Given the description of an element on the screen output the (x, y) to click on. 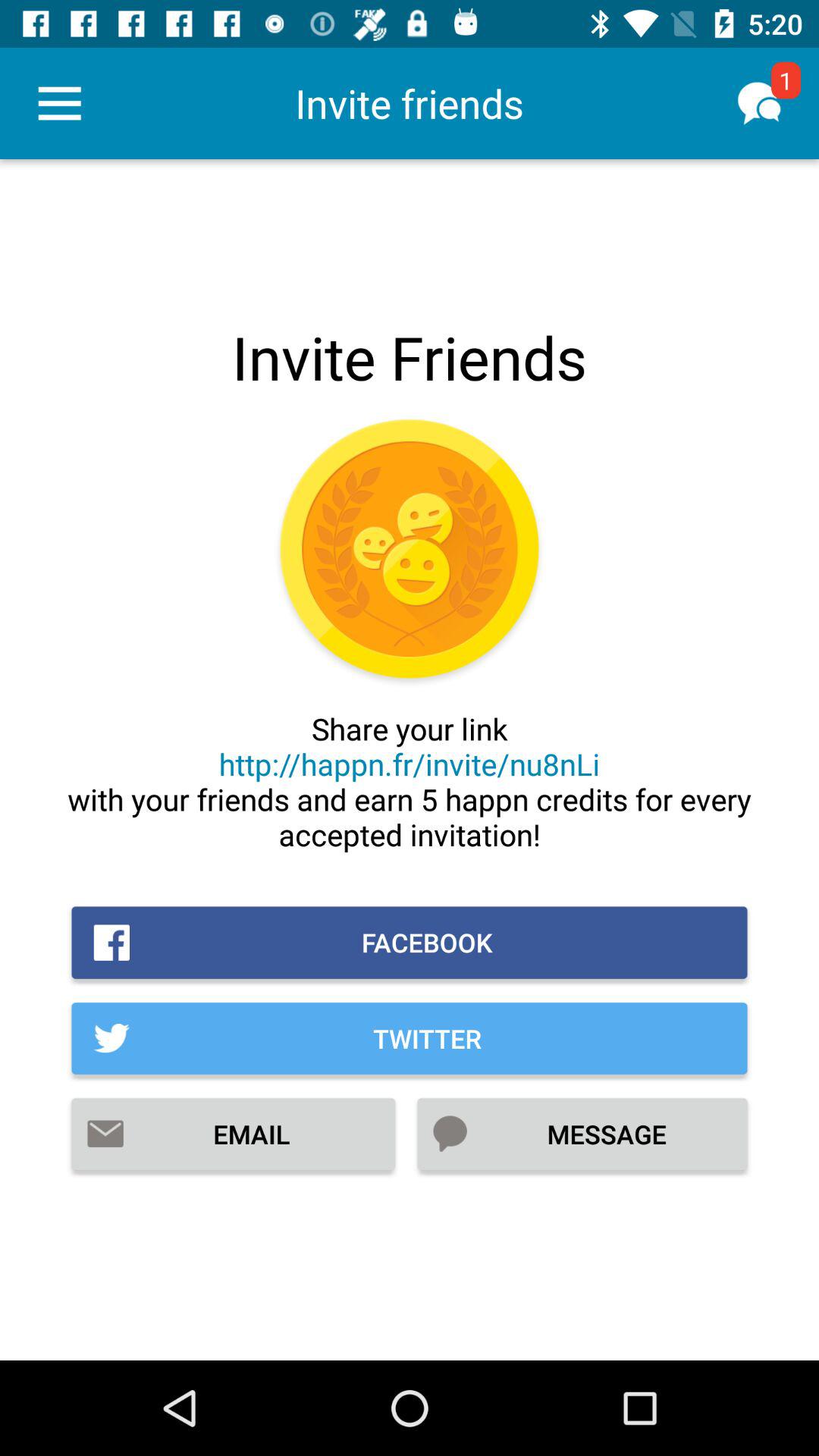
jump to share your link (409, 781)
